Given the description of an element on the screen output the (x, y) to click on. 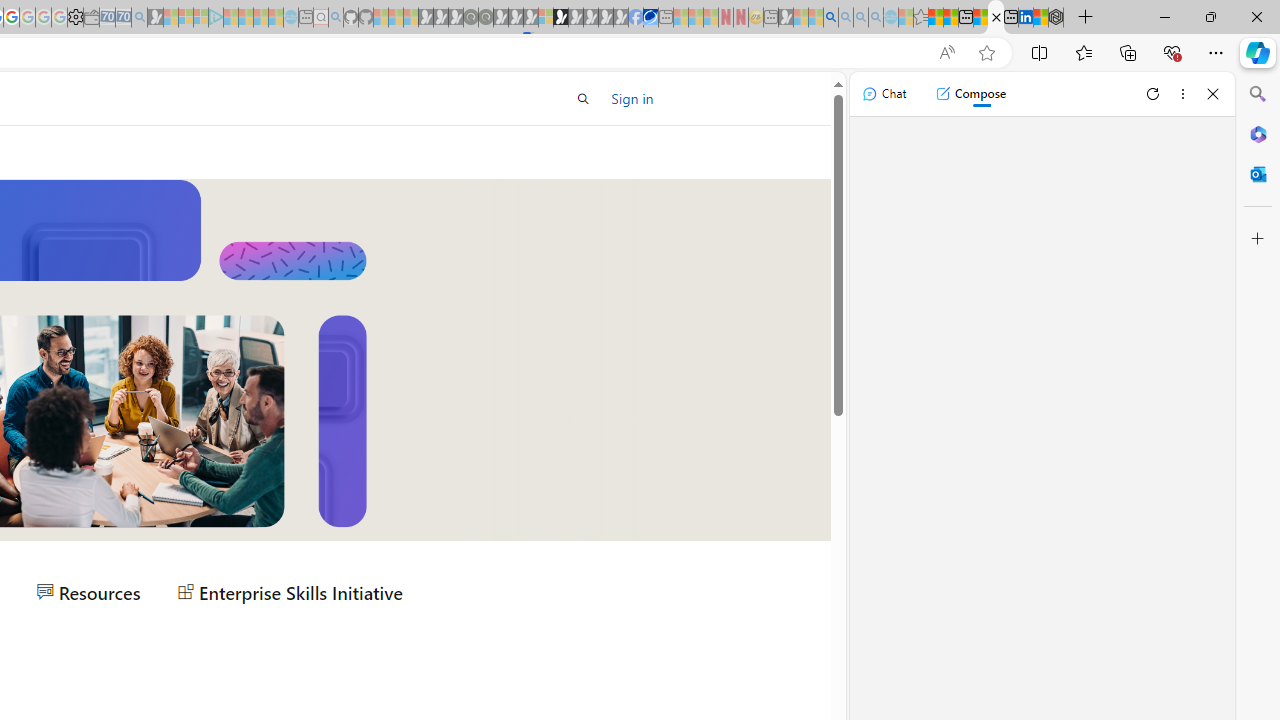
Aberdeen, Hong Kong SAR weather forecast | Microsoft Weather (950, 17)
Bing Real Estate - Home sales and rental listings - Sleeping (139, 17)
Open search (583, 97)
